Given the description of an element on the screen output the (x, y) to click on. 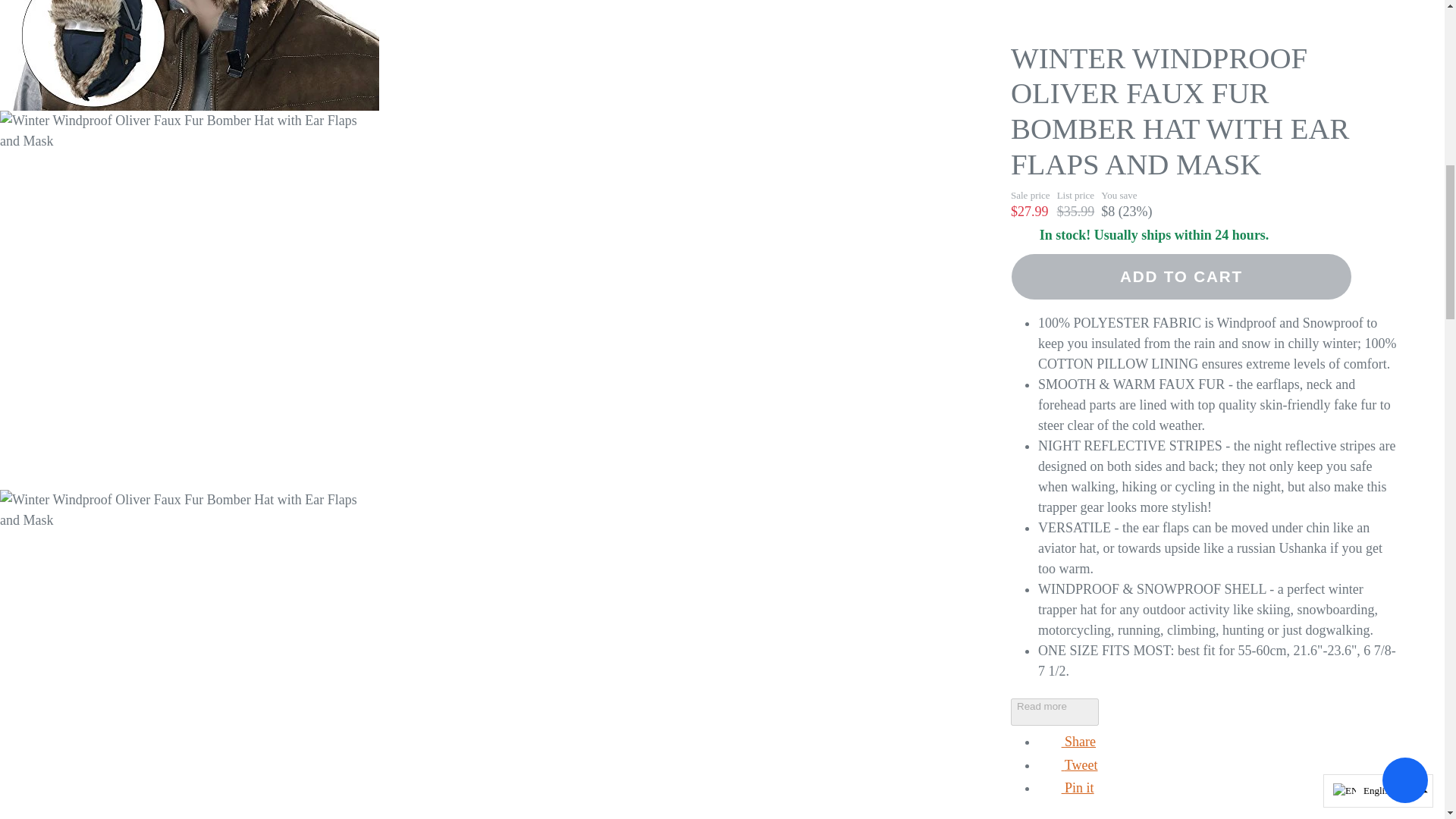
Read more (1067, 117)
